Given the description of an element on the screen output the (x, y) to click on. 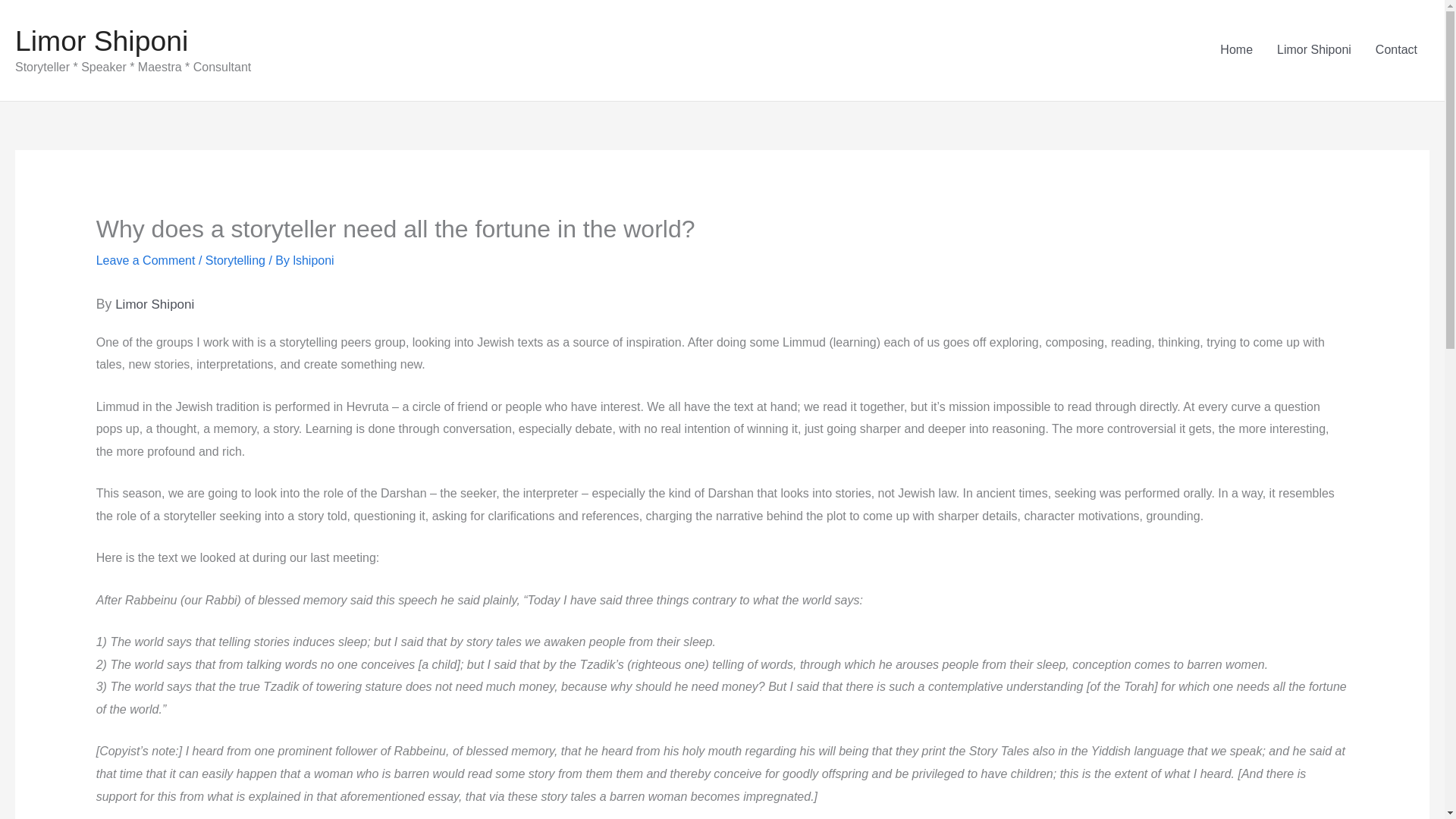
Home (1236, 49)
Limor Shiponi (1313, 49)
Limor Shiponi (100, 40)
Storytelling (234, 259)
lshiponi (312, 259)
Leave a Comment (145, 259)
Limor Shiponi (154, 304)
Contact (1395, 49)
View all posts by lshiponi (312, 259)
